Given the description of an element on the screen output the (x, y) to click on. 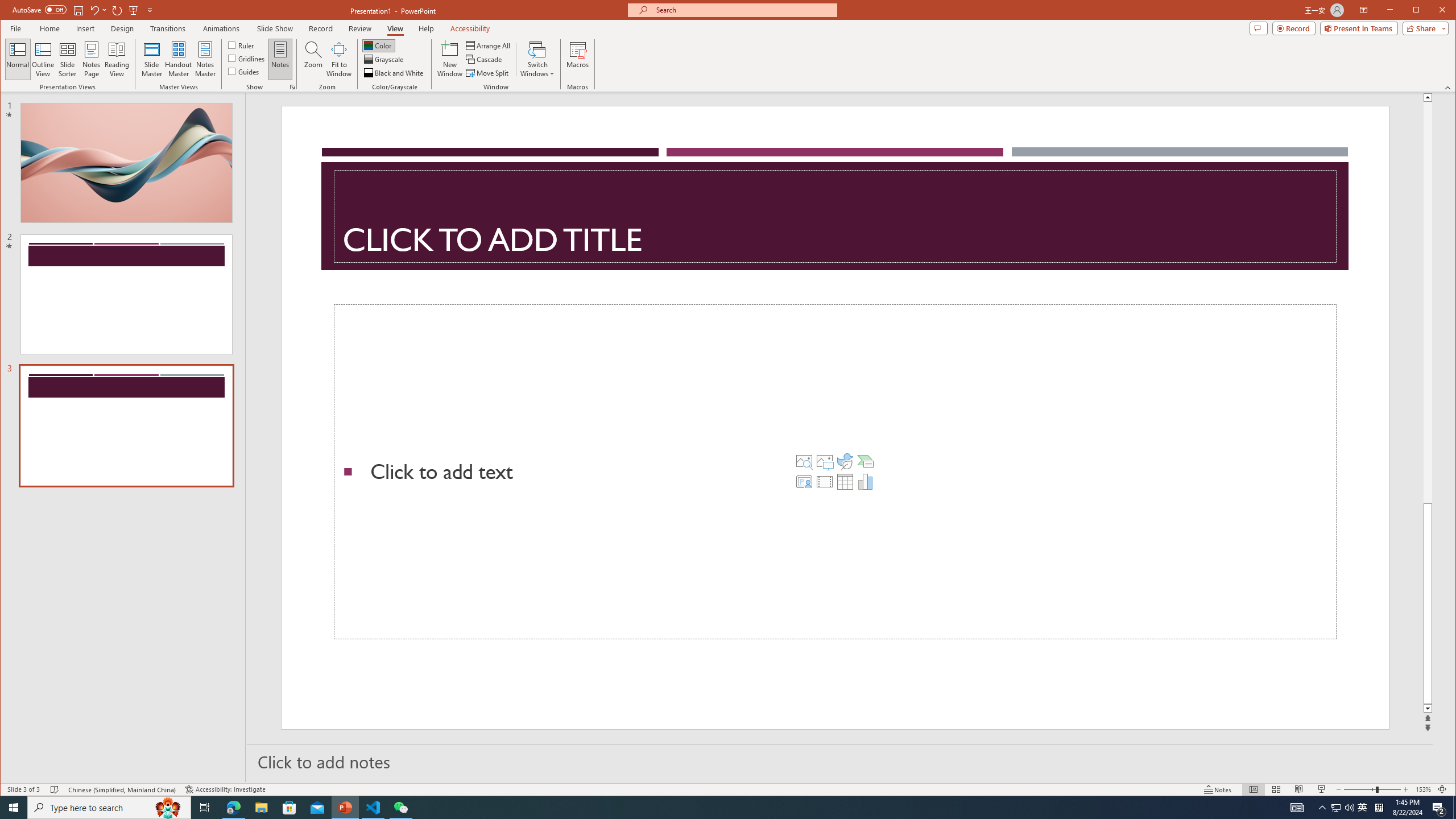
Gridlines (246, 57)
Zoom... (312, 59)
Move Split (488, 72)
